Given the description of an element on the screen output the (x, y) to click on. 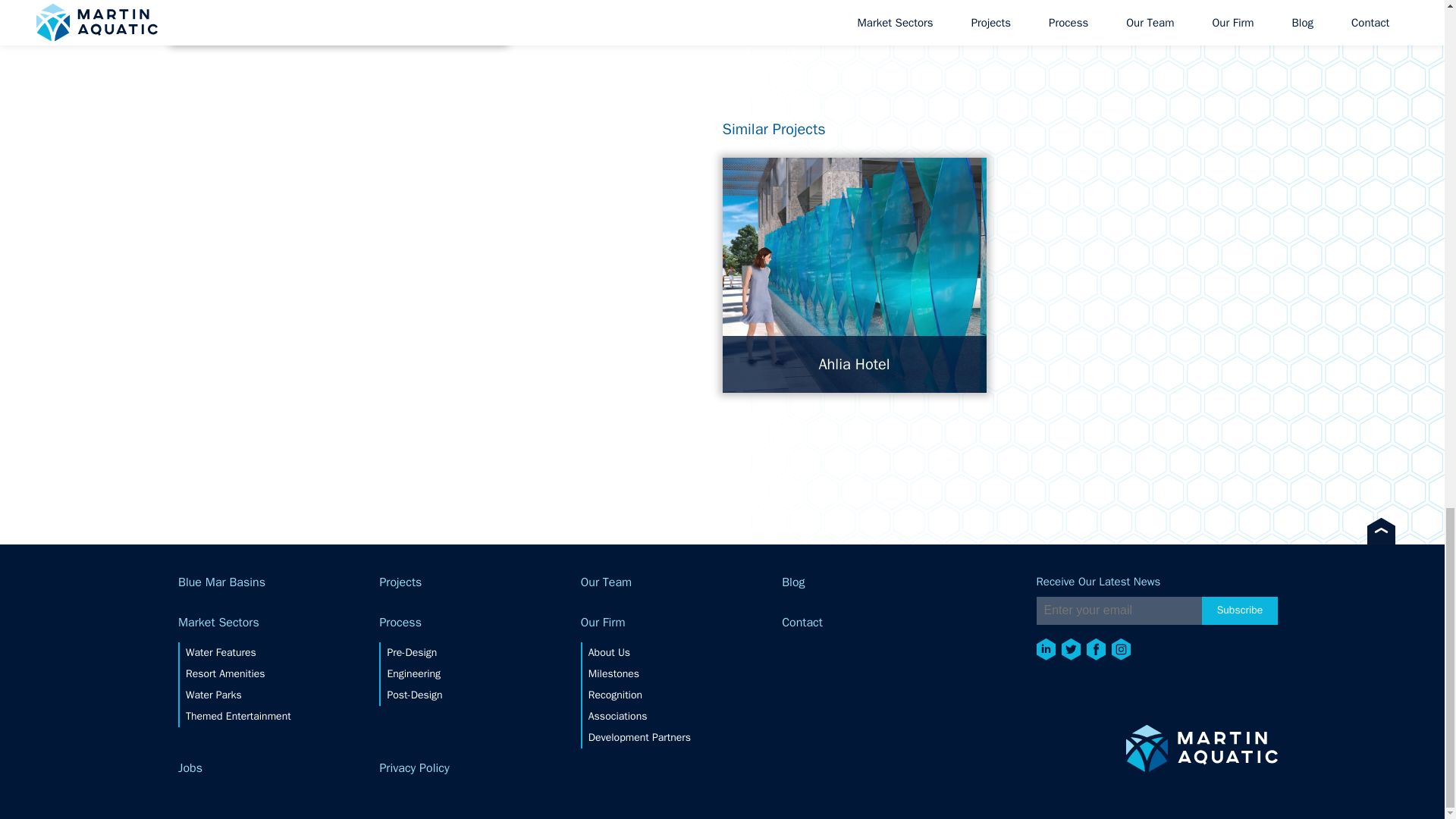
Recognition (639, 694)
Our Firm (680, 622)
Process (478, 622)
Blog (881, 582)
Contact (881, 622)
Subscribe (1240, 611)
Our Team (680, 582)
Projects (478, 582)
Resort Amenities (238, 673)
Engineering (414, 673)
